Given the description of an element on the screen output the (x, y) to click on. 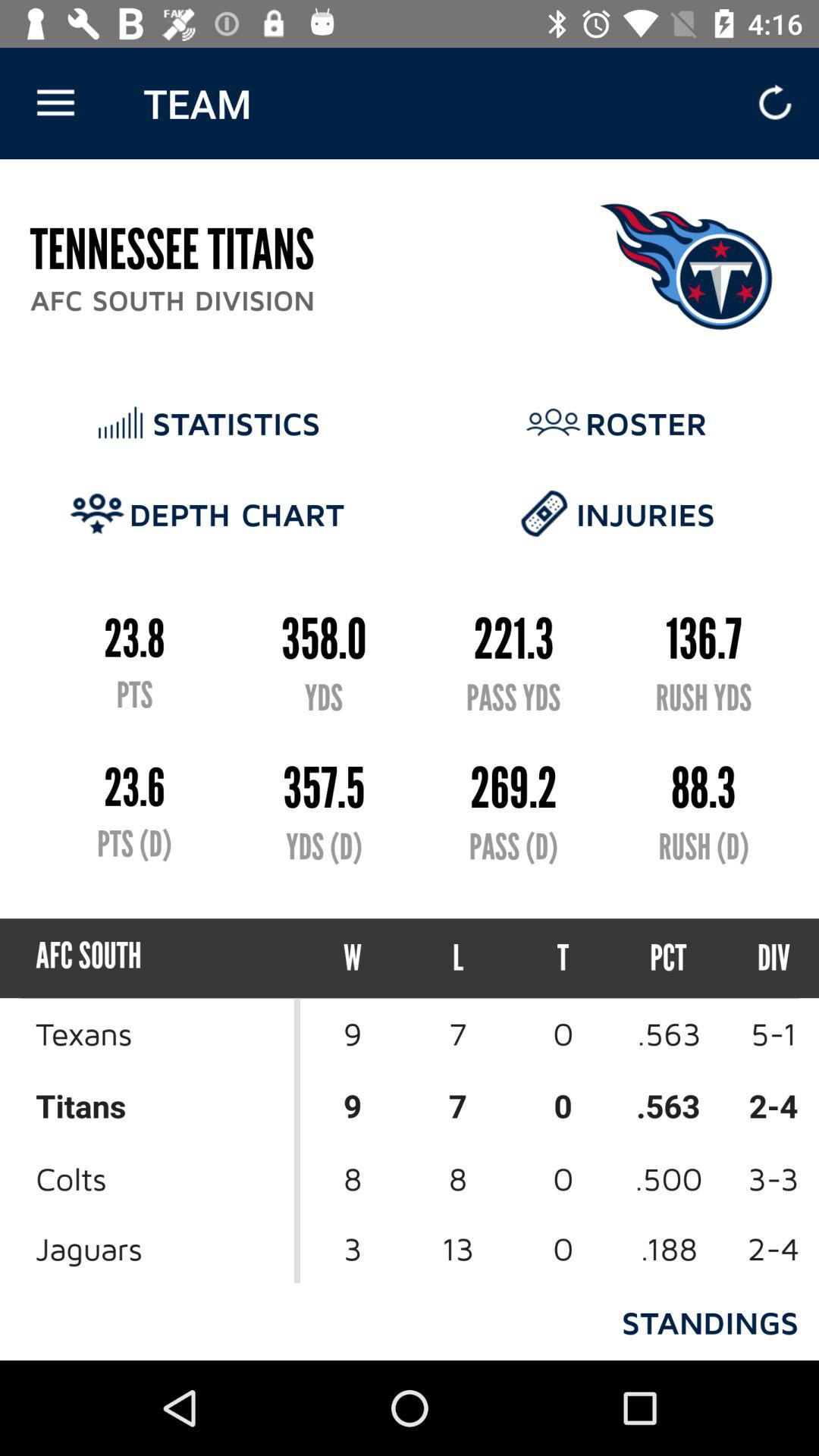
go to the text left to div (668, 957)
click on the icon which is left of the text injuries (544, 512)
